Given the description of an element on the screen output the (x, y) to click on. 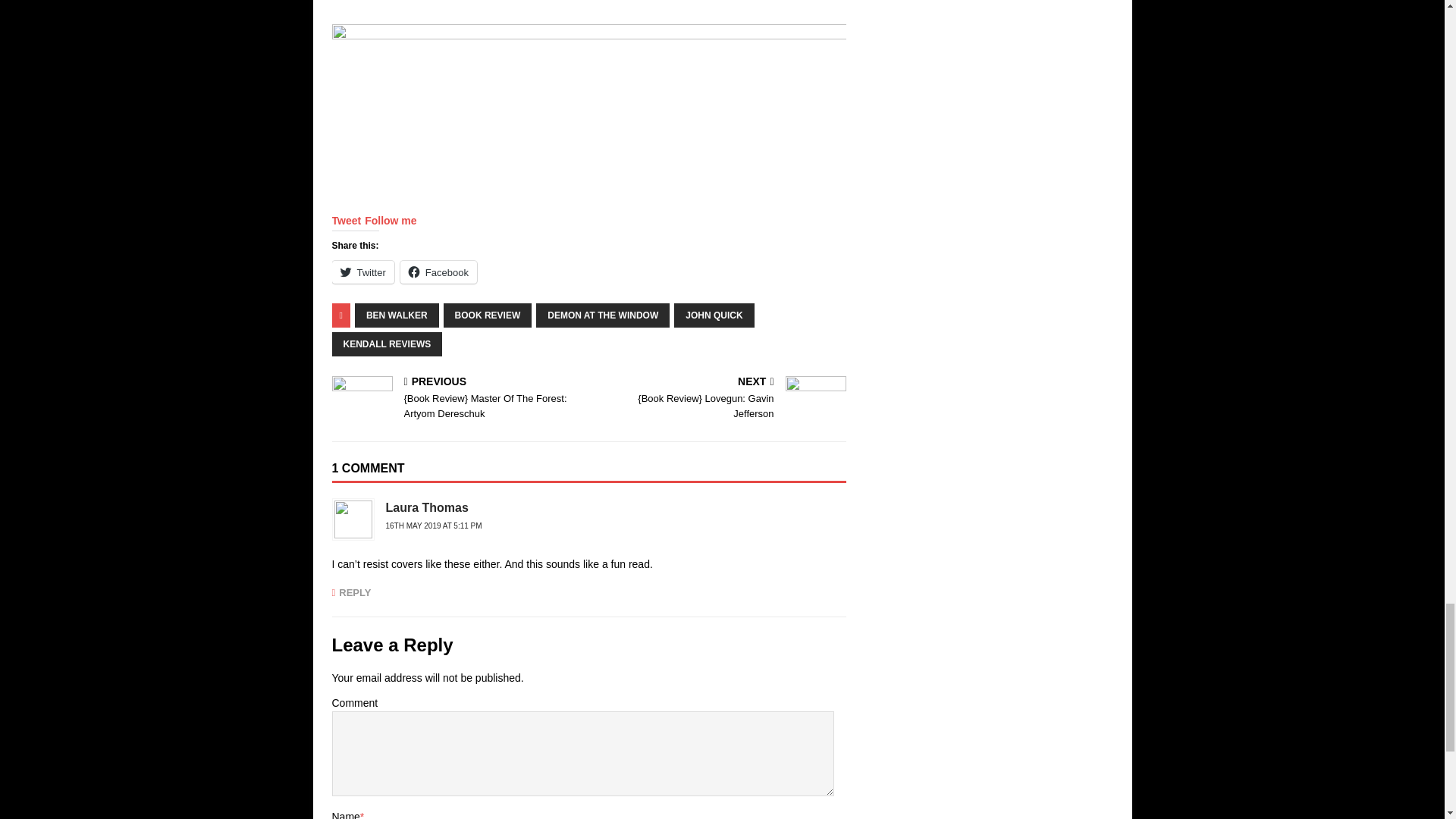
BOOK REVIEW (488, 315)
Click to share on Facebook (438, 272)
Click to share on Twitter (362, 272)
Twitter (362, 272)
Tweet (346, 220)
Follow me (390, 220)
KENDALL REVIEWS (386, 344)
BEN WALKER (397, 315)
DEMON AT THE WINDOW (602, 315)
Facebook (438, 272)
